Given the description of an element on the screen output the (x, y) to click on. 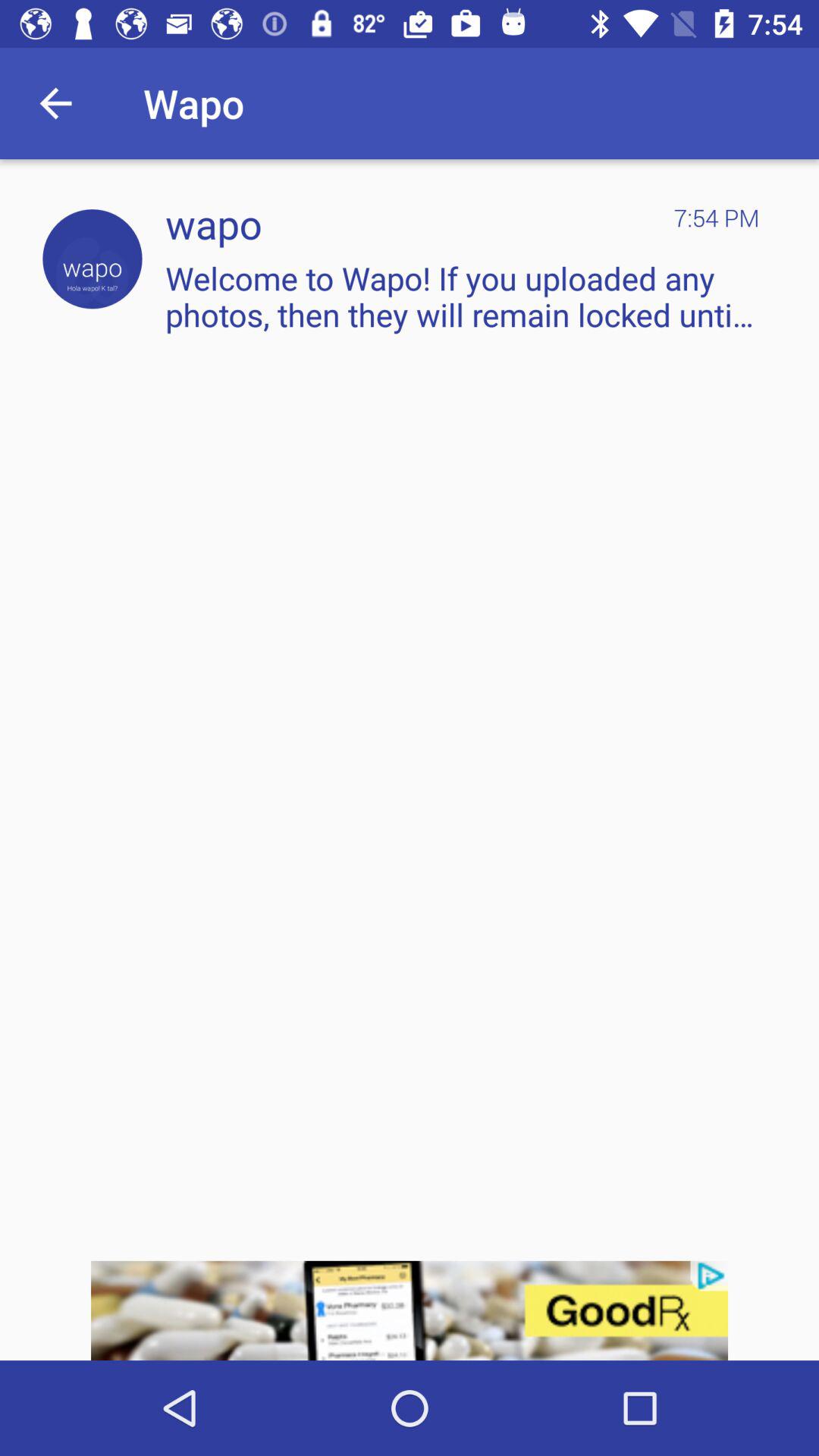
go to site (92, 258)
